Given the description of an element on the screen output the (x, y) to click on. 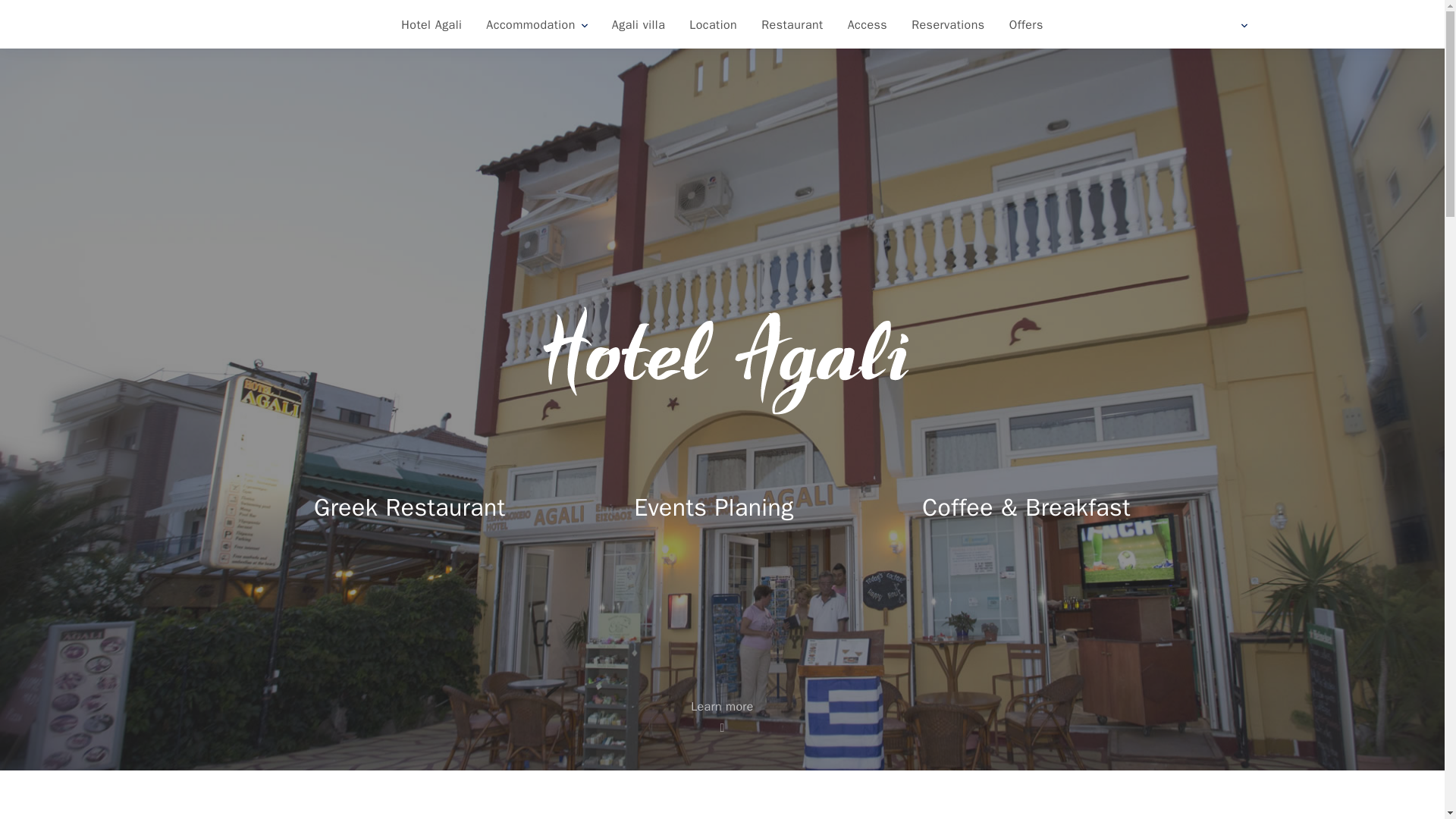
Learn more (722, 716)
Offers (1026, 25)
Accommodation (536, 25)
Restaurant (791, 25)
Reservations (948, 25)
Agali villa (638, 25)
Location (713, 25)
English (1241, 25)
Access (867, 25)
Hotel Agali (431, 25)
